Given the description of an element on the screen output the (x, y) to click on. 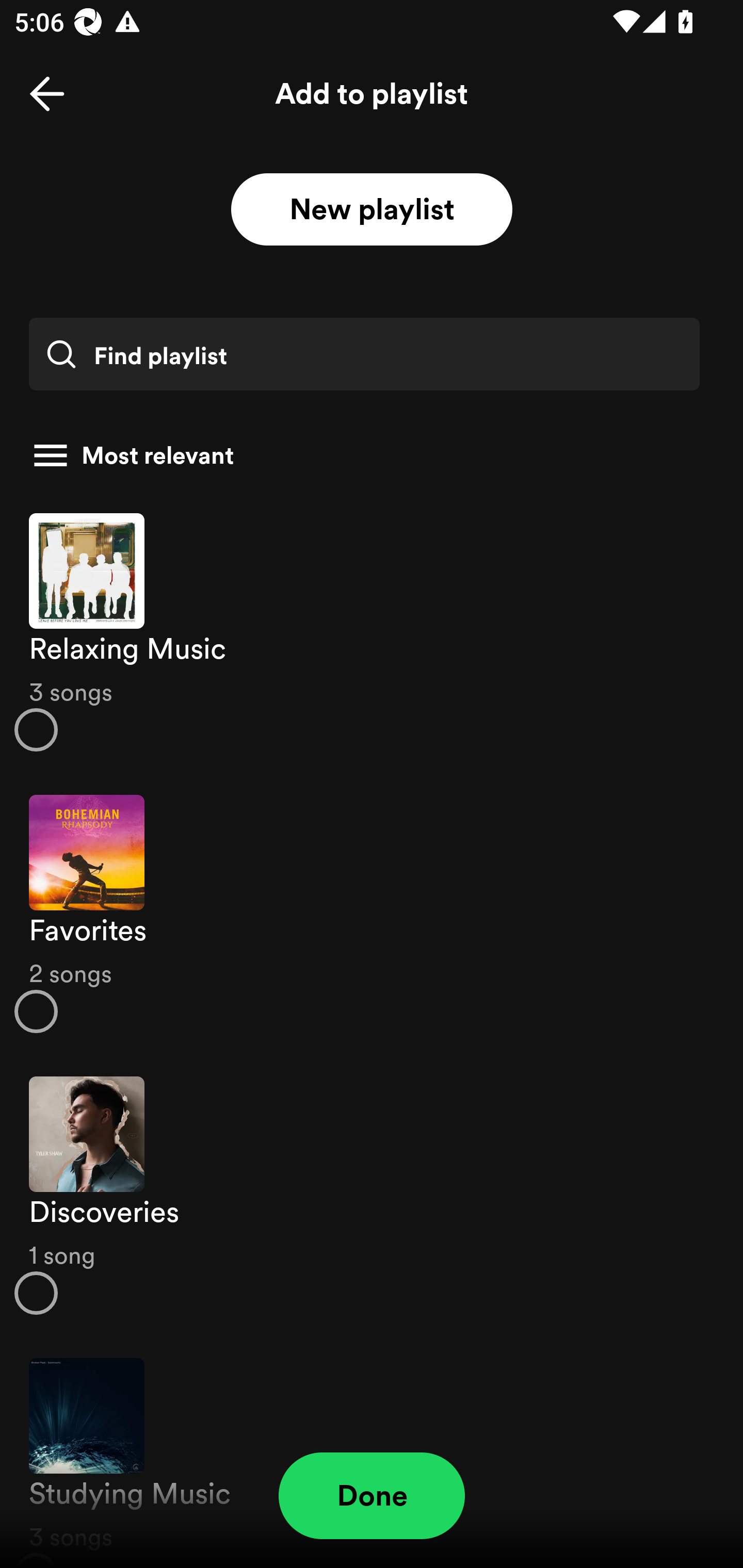
Back (46, 93)
New playlist (371, 210)
Find playlist (363, 354)
Most relevant (363, 455)
Relaxing Music 3 songs (371, 631)
Favorites 2 songs (371, 914)
Discoveries 1 song (371, 1195)
Studying Music 3 songs (371, 1451)
Done (371, 1495)
